Given the description of an element on the screen output the (x, y) to click on. 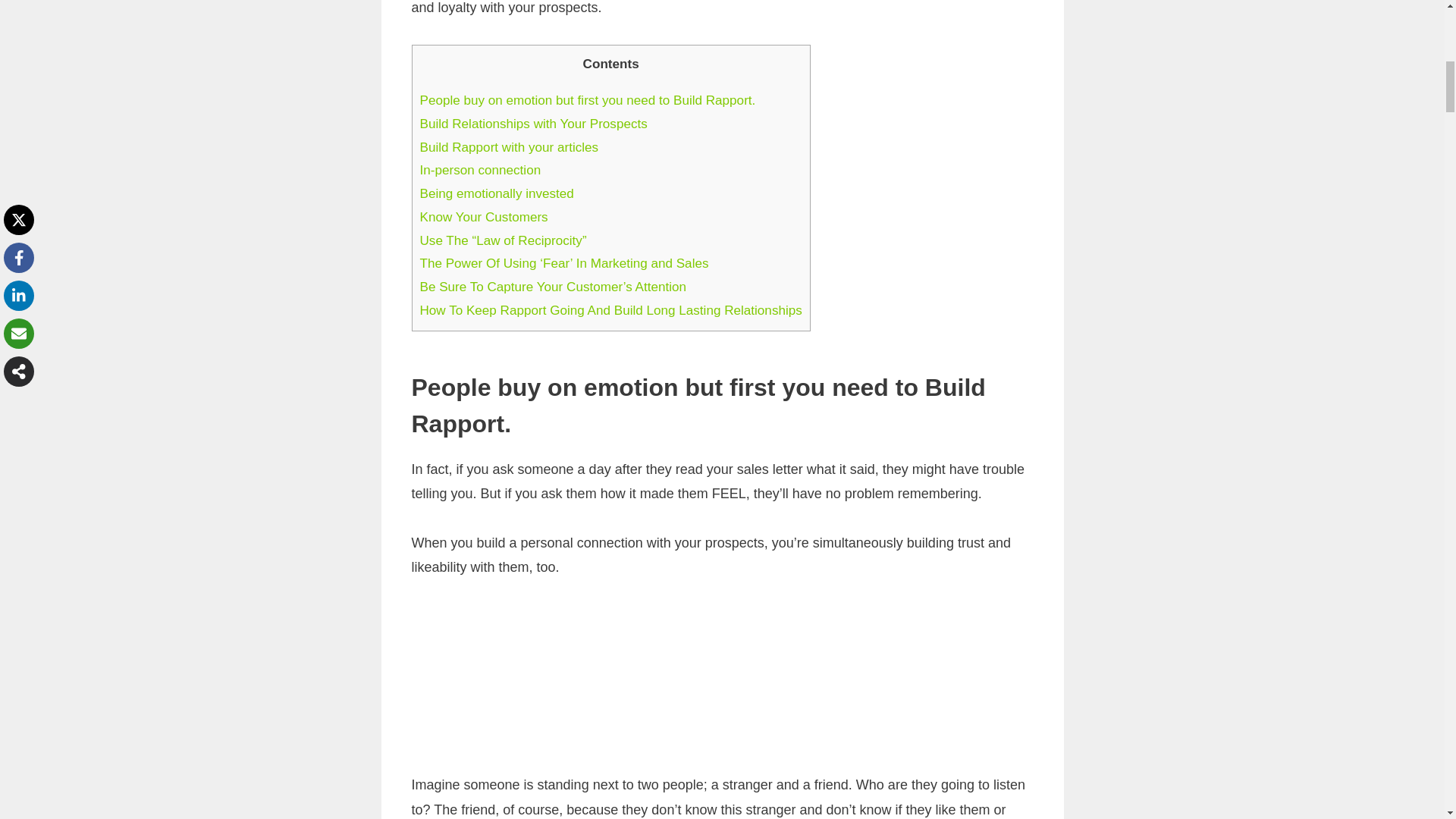
Build Rapport with your articles (509, 147)
Build Relationships with Your Prospects (533, 124)
Know Your Customers (484, 216)
In-person connection (480, 169)
Being emotionally invested (496, 193)
People buy on emotion but first you need to Build Rapport. (587, 100)
